Given the description of an element on the screen output the (x, y) to click on. 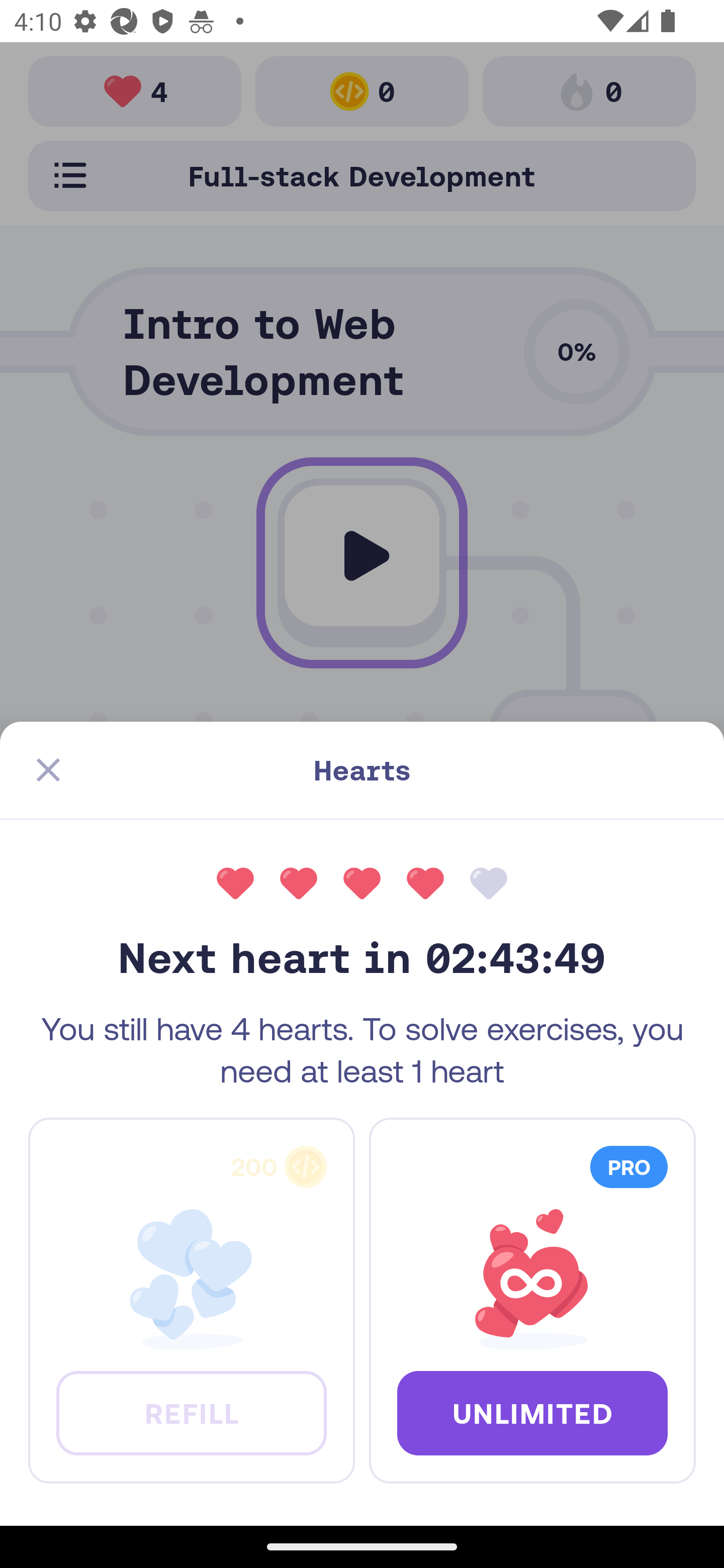
Close (47, 769)
REFILL (191, 1412)
UNLIMITED (532, 1412)
